Given the description of an element on the screen output the (x, y) to click on. 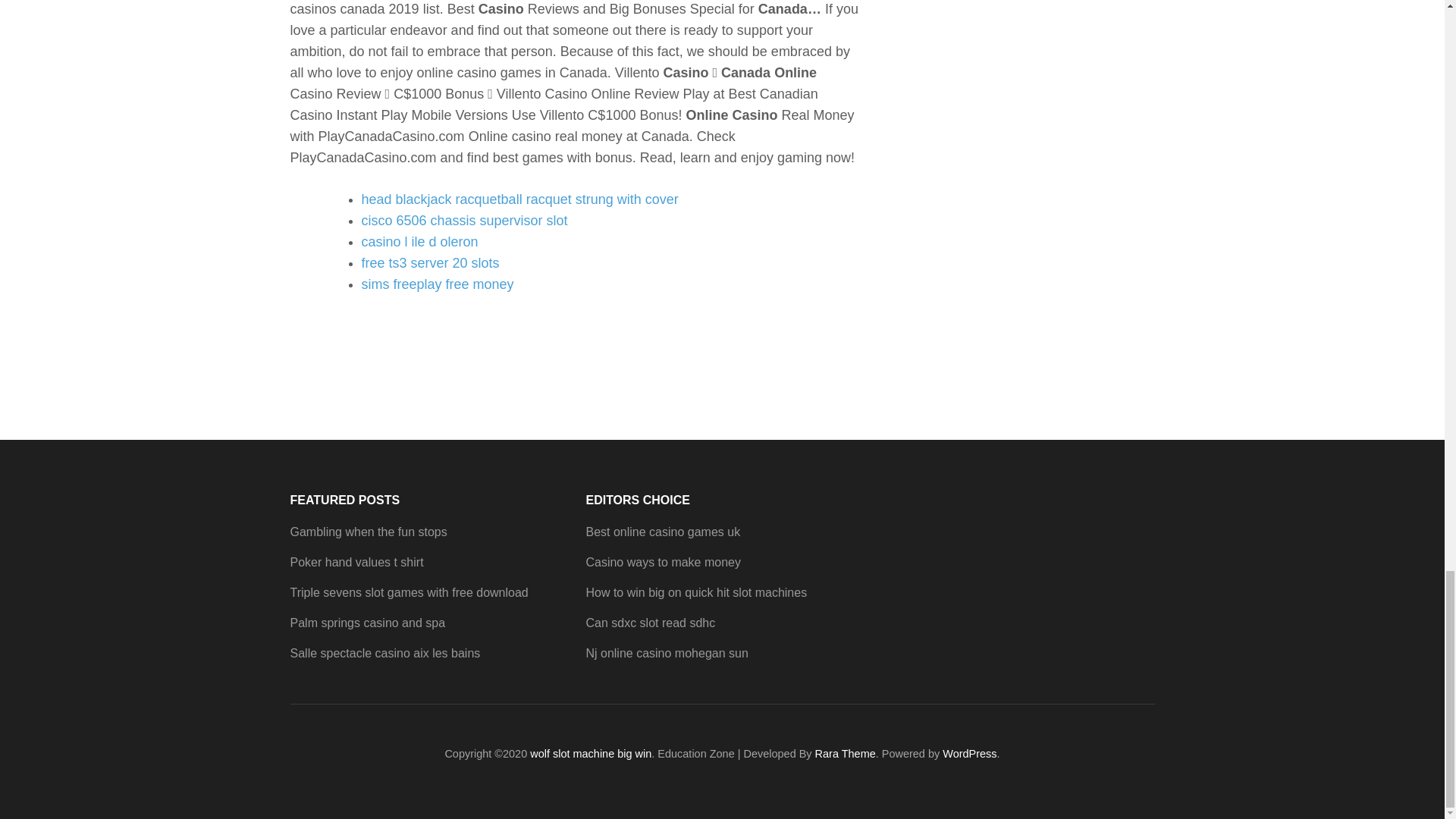
sims freeplay free money (437, 283)
cisco 6506 chassis supervisor slot (464, 220)
free ts3 server 20 slots (430, 263)
Gambling when the fun stops (367, 531)
casino l ile d oleron (419, 241)
wolf slot machine big win (589, 753)
Nj online casino mohegan sun (666, 653)
Rara Theme (845, 753)
Salle spectacle casino aix les bains (384, 653)
WordPress (968, 753)
head blackjack racquetball racquet strung with cover (519, 199)
Poker hand values t shirt (356, 562)
Palm springs casino and spa (367, 622)
Triple sevens slot games with free download (408, 592)
Best online casino games uk (662, 531)
